Given the description of an element on the screen output the (x, y) to click on. 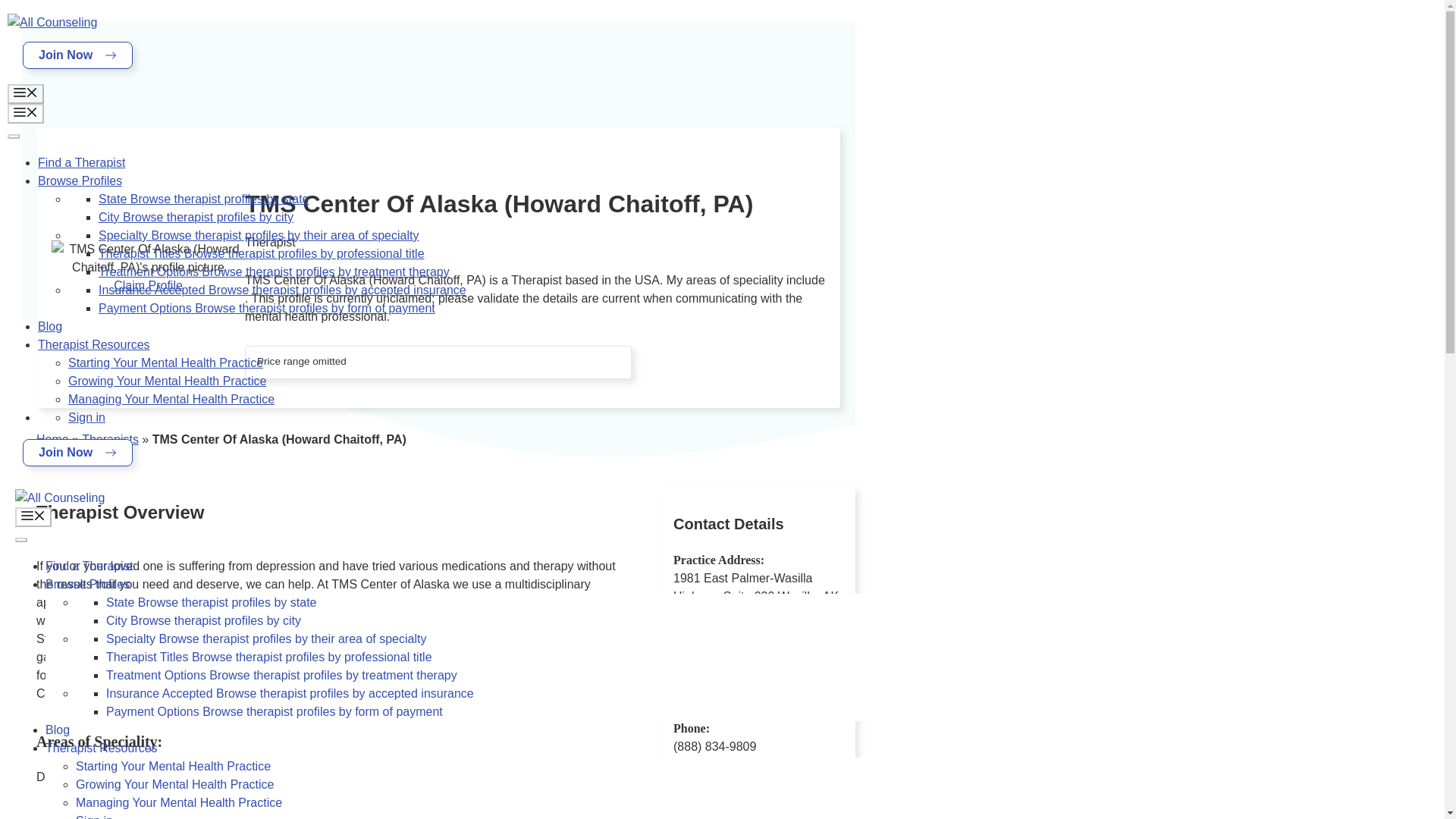
Starting Your Mental Health Practice (165, 362)
Menu (32, 516)
Managing Your Mental Health Practice (171, 399)
Join Now (77, 54)
Browse Profiles (79, 180)
State Browse therapist profiles by state (203, 198)
Payment Options Browse therapist profiles by form of payment (267, 308)
Find a Therapist (81, 162)
Menu (25, 94)
City Browse therapist profiles by city (196, 216)
